Given the description of an element on the screen output the (x, y) to click on. 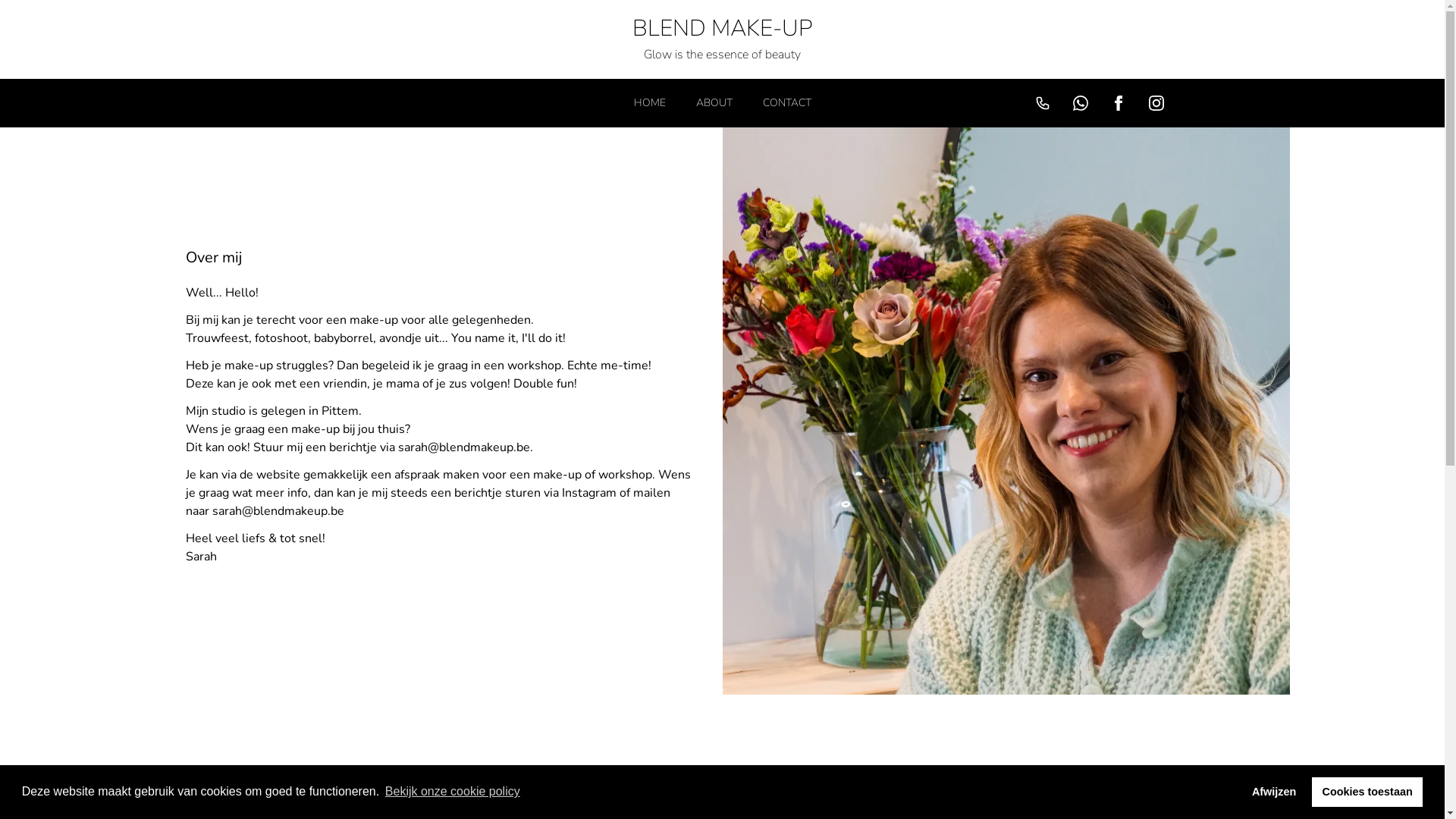
BLEND MAKE-UP Element type: text (722, 27)
Afwijzen Element type: text (1273, 791)
sarah@blendmakeup.be Element type: text (463, 447)
Bekijk onze cookie policy Element type: text (452, 791)
Instagram Element type: hover (1157, 102)
HOME Element type: text (649, 102)
sarah@blendmakeup.be Element type: text (278, 510)
Bel mij Element type: hover (1044, 102)
CONTACT Element type: text (786, 102)
Cookies toestaan Element type: text (1366, 791)
WhatsApp Element type: hover (1082, 102)
ABOUT Element type: text (714, 102)
Facebook Element type: hover (1120, 102)
